Given the description of an element on the screen output the (x, y) to click on. 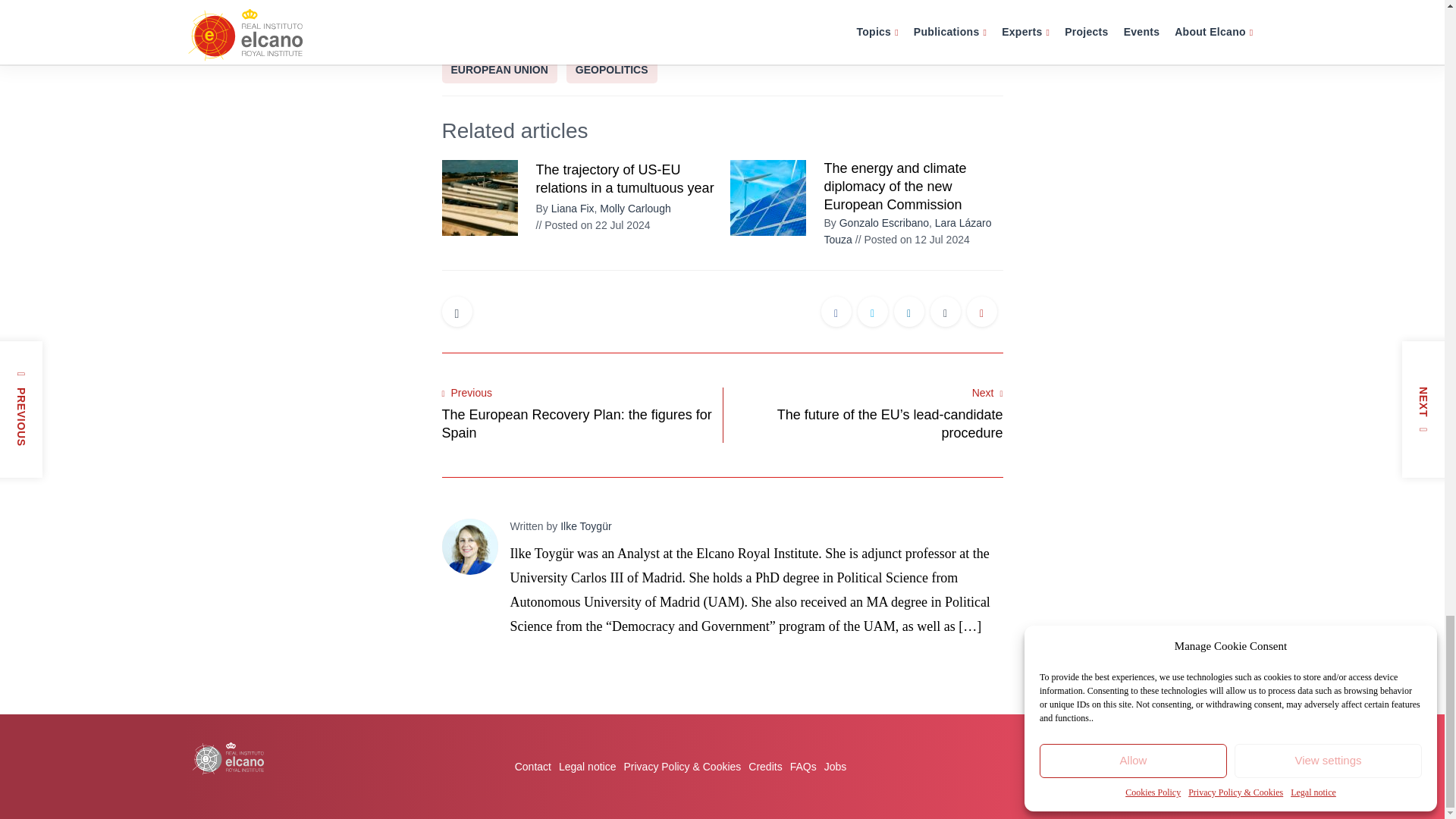
Posted on 22 Jul 2024 (592, 224)
Posted on 12 Jul 2024 (912, 239)
Copy Link (980, 313)
